Given the description of an element on the screen output the (x, y) to click on. 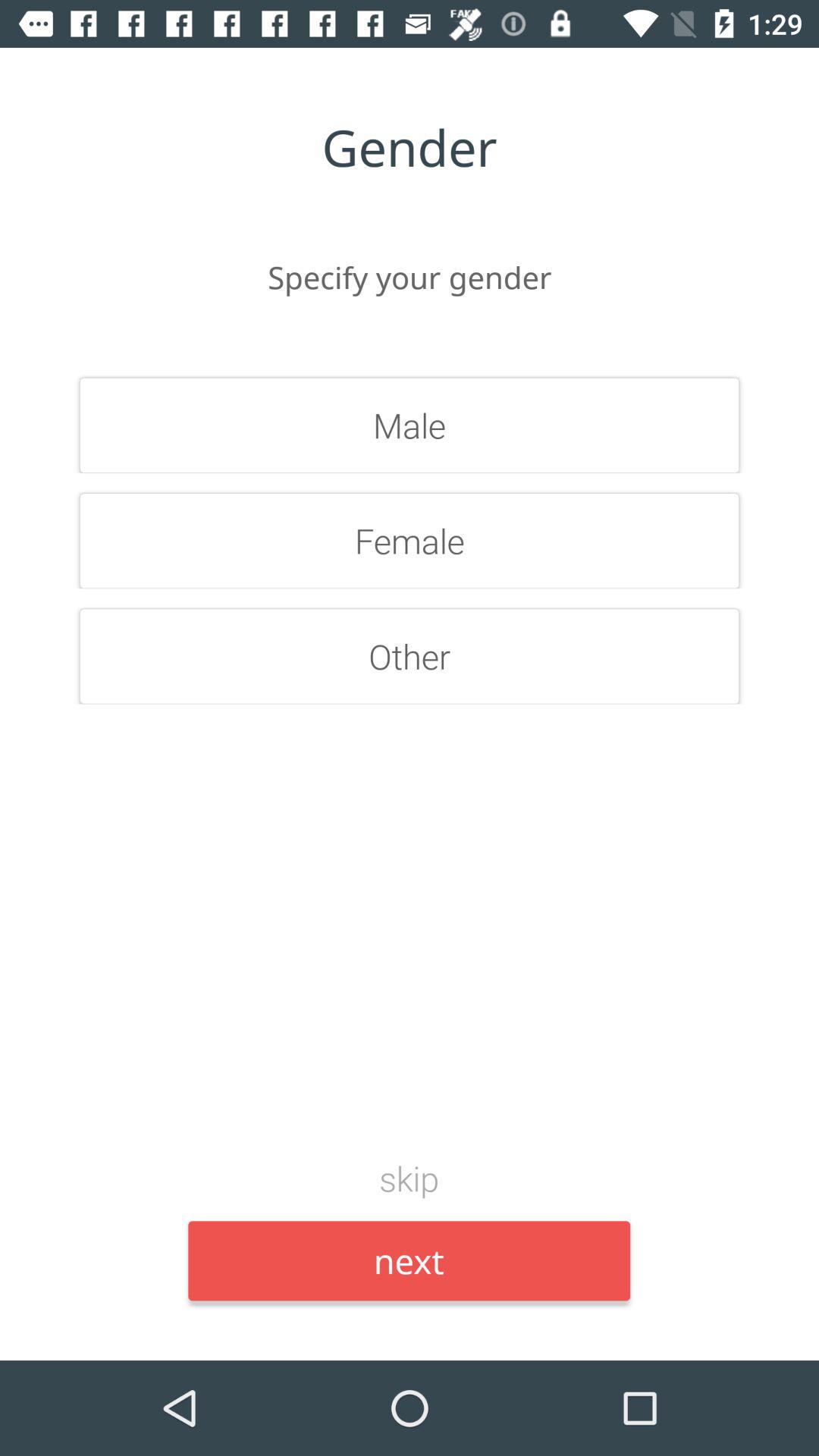
flip until next button (409, 1260)
